Given the description of an element on the screen output the (x, y) to click on. 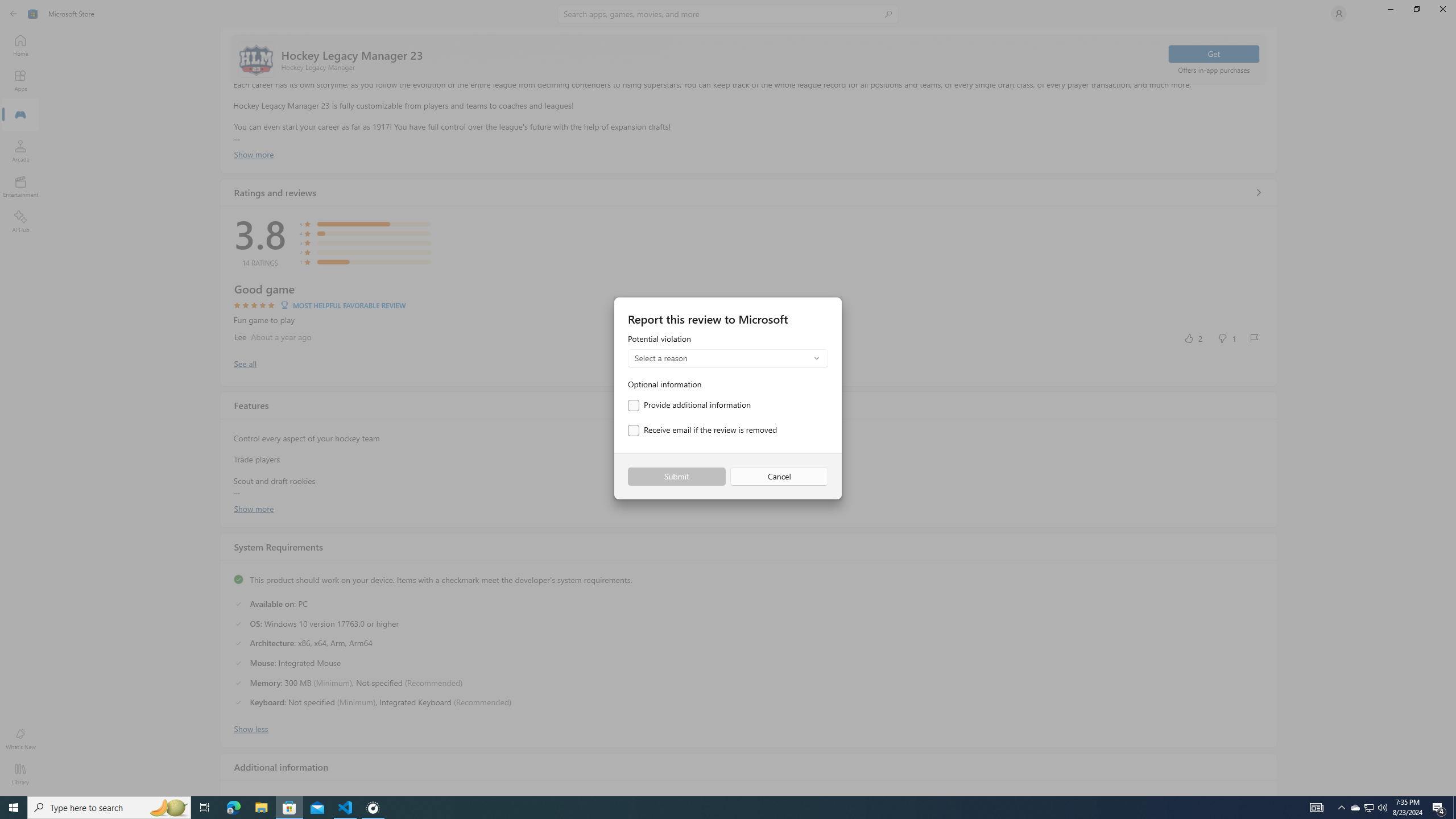
Apps (20, 80)
Submit (676, 476)
Restore Microsoft Store (1416, 9)
Entertainment (20, 185)
AutomationID: NavigationControl (728, 398)
Library (20, 773)
Search (727, 13)
Show all ratings and reviews (1258, 192)
Show more (253, 507)
Get (1213, 53)
Scroll to top (748, 59)
Show all ratings and reviews (244, 362)
Home (20, 45)
What's New (20, 738)
Class: Image (32, 13)
